Given the description of an element on the screen output the (x, y) to click on. 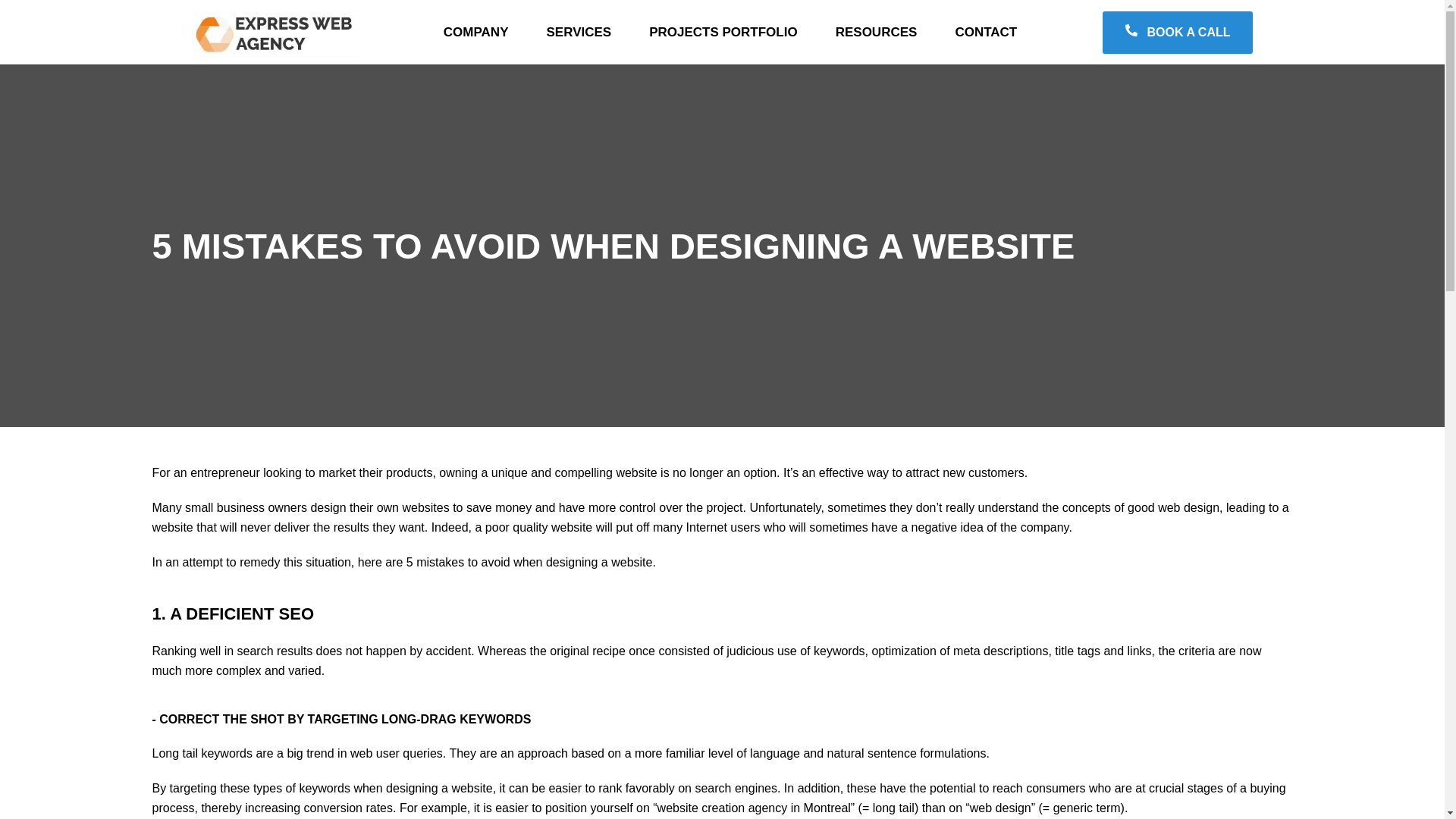
COMPANY (476, 32)
SERVICES (578, 32)
RESOURCES (876, 32)
CONTACT (985, 32)
PROJECTS PORTFOLIO (723, 32)
